Given the description of an element on the screen output the (x, y) to click on. 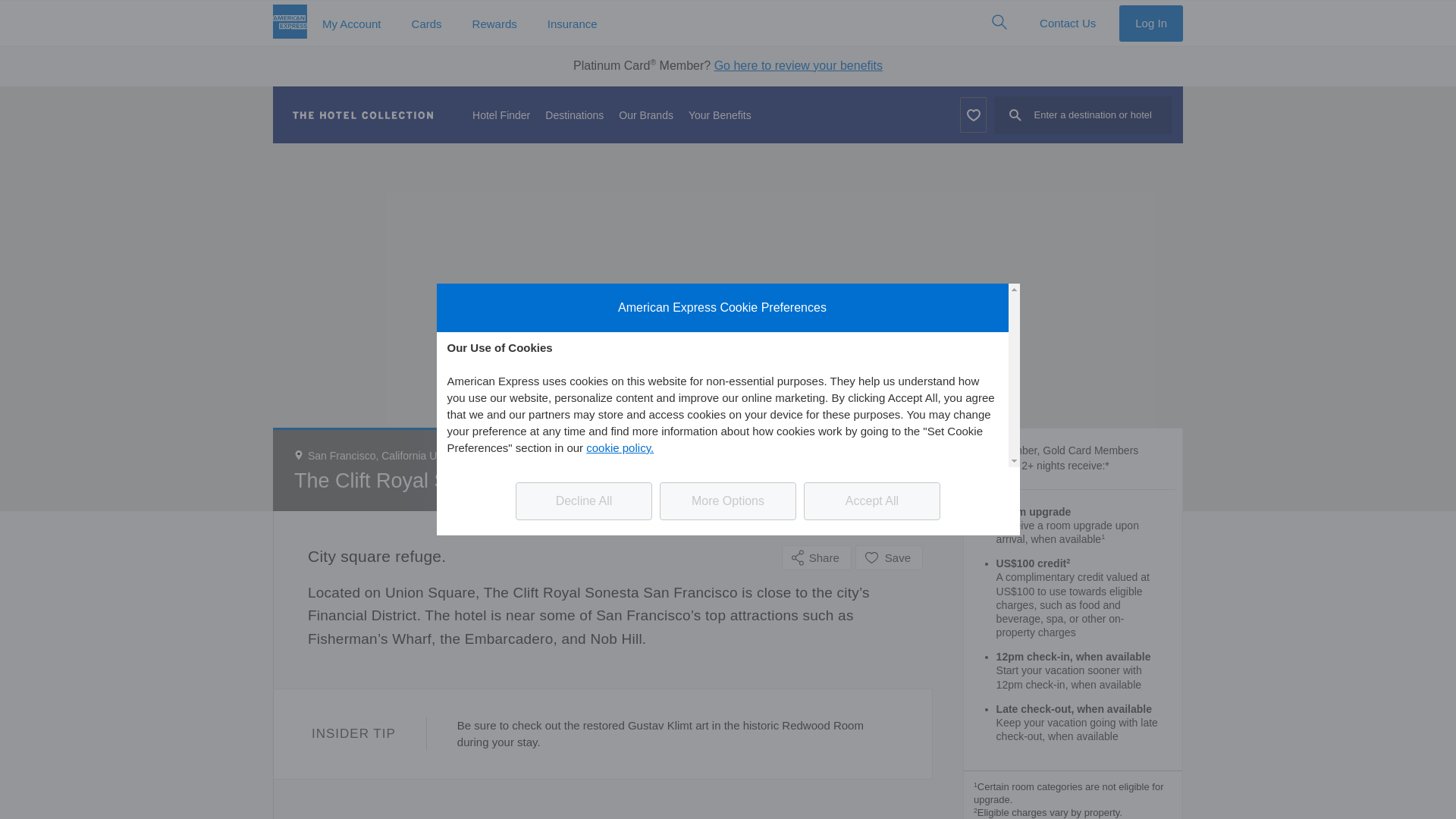
Contact Us (1067, 23)
Log In (1150, 22)
Search (999, 21)
